Given the description of an element on the screen output the (x, y) to click on. 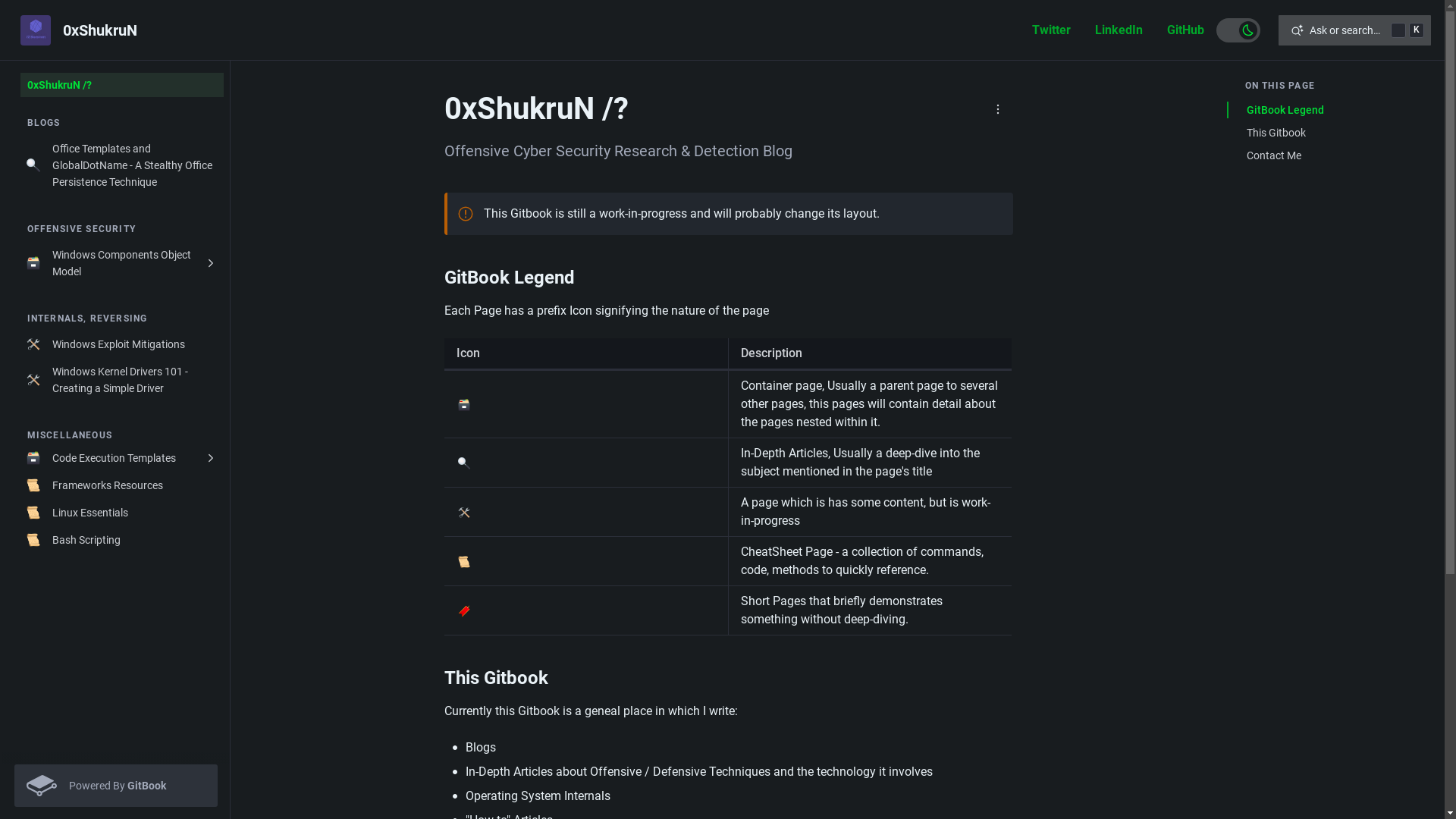
Twitter Element type: text (1050, 30)
0xShukruN Element type: text (80, 30)
Powered By GitBook Element type: text (114, 785)
LinkedIn Element type: text (1118, 30)
0xShukruN /? Element type: text (120, 84)
GitHub Element type: text (1184, 30)
